Given the description of an element on the screen output the (x, y) to click on. 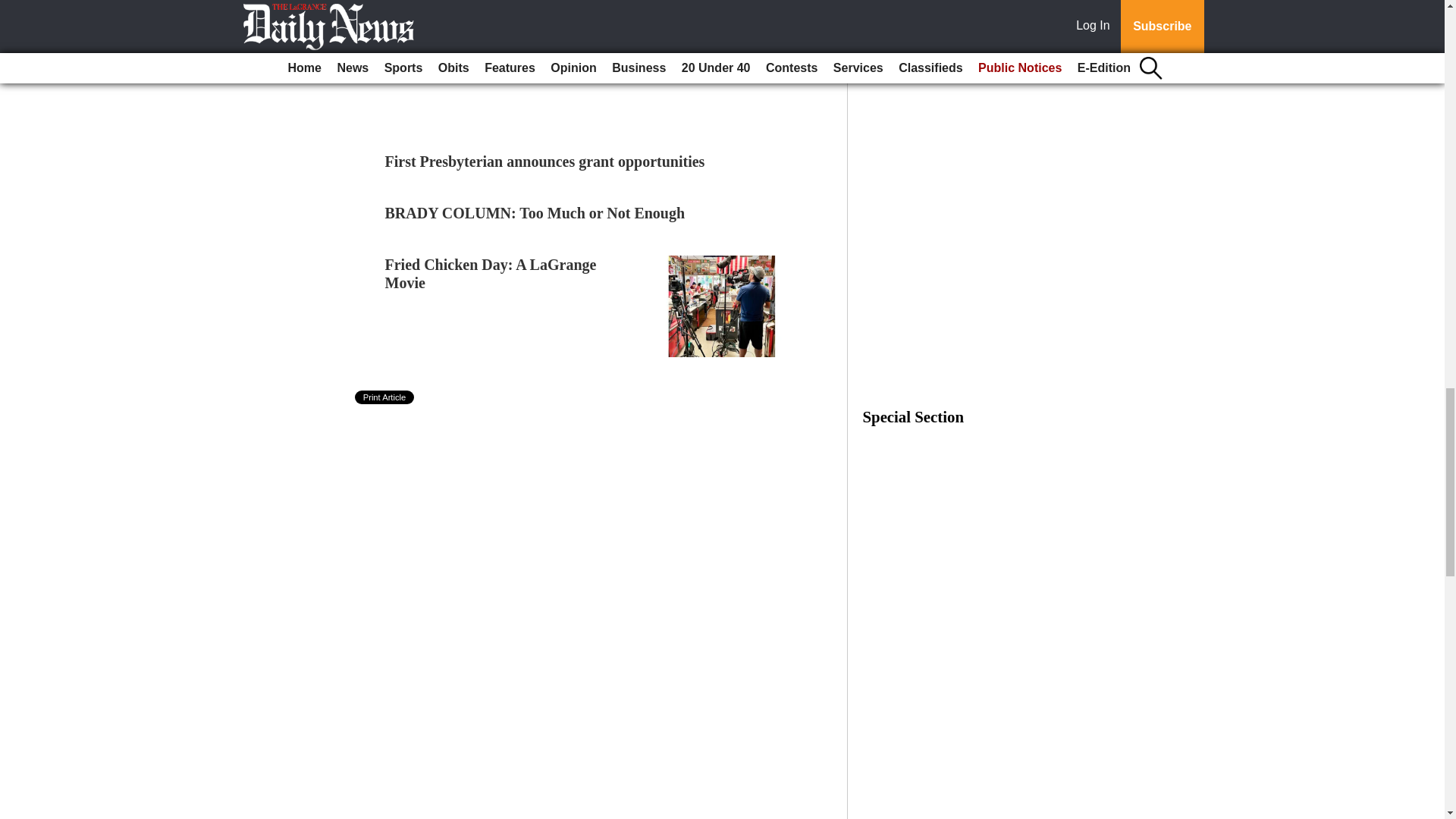
BRADY COLUMN: Too Much or Not Enough (535, 212)
Print Article (384, 397)
First Presbyterian announces grant opportunities (544, 161)
BRADY COLUMN: Too Much or Not Enough (535, 212)
First Presbyterian announces grant opportunities (544, 161)
Fried Chicken Day: A LaGrange Movie (490, 273)
Fried Chicken Day: A LaGrange Movie (490, 273)
